Given the description of an element on the screen output the (x, y) to click on. 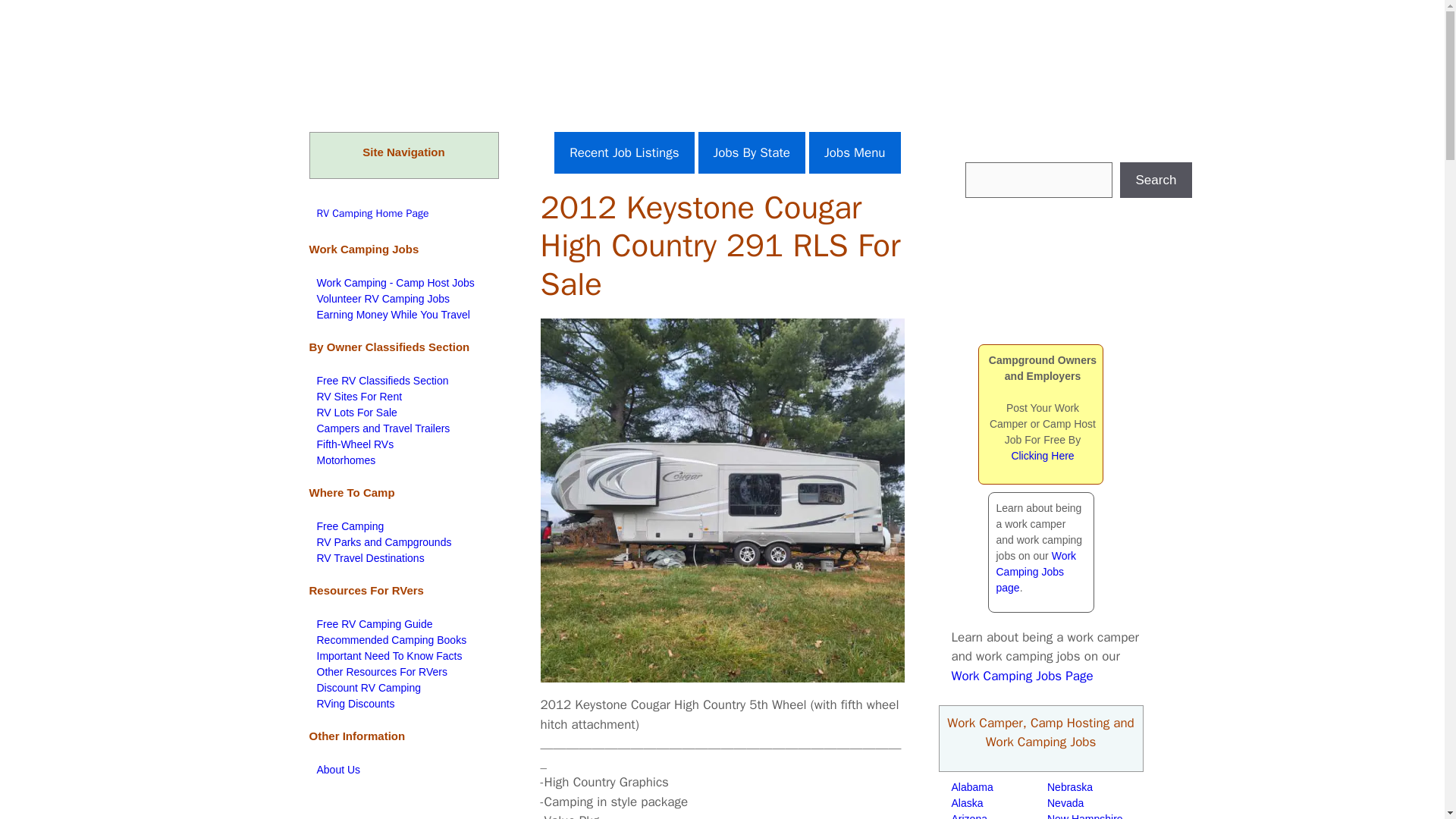
Jobs Menu (854, 152)
Jobs By State (751, 152)
Recent Job Listings (624, 152)
2012 Keystone Cougar High Country 291 RLS For Sale (722, 500)
